Given the description of an element on the screen output the (x, y) to click on. 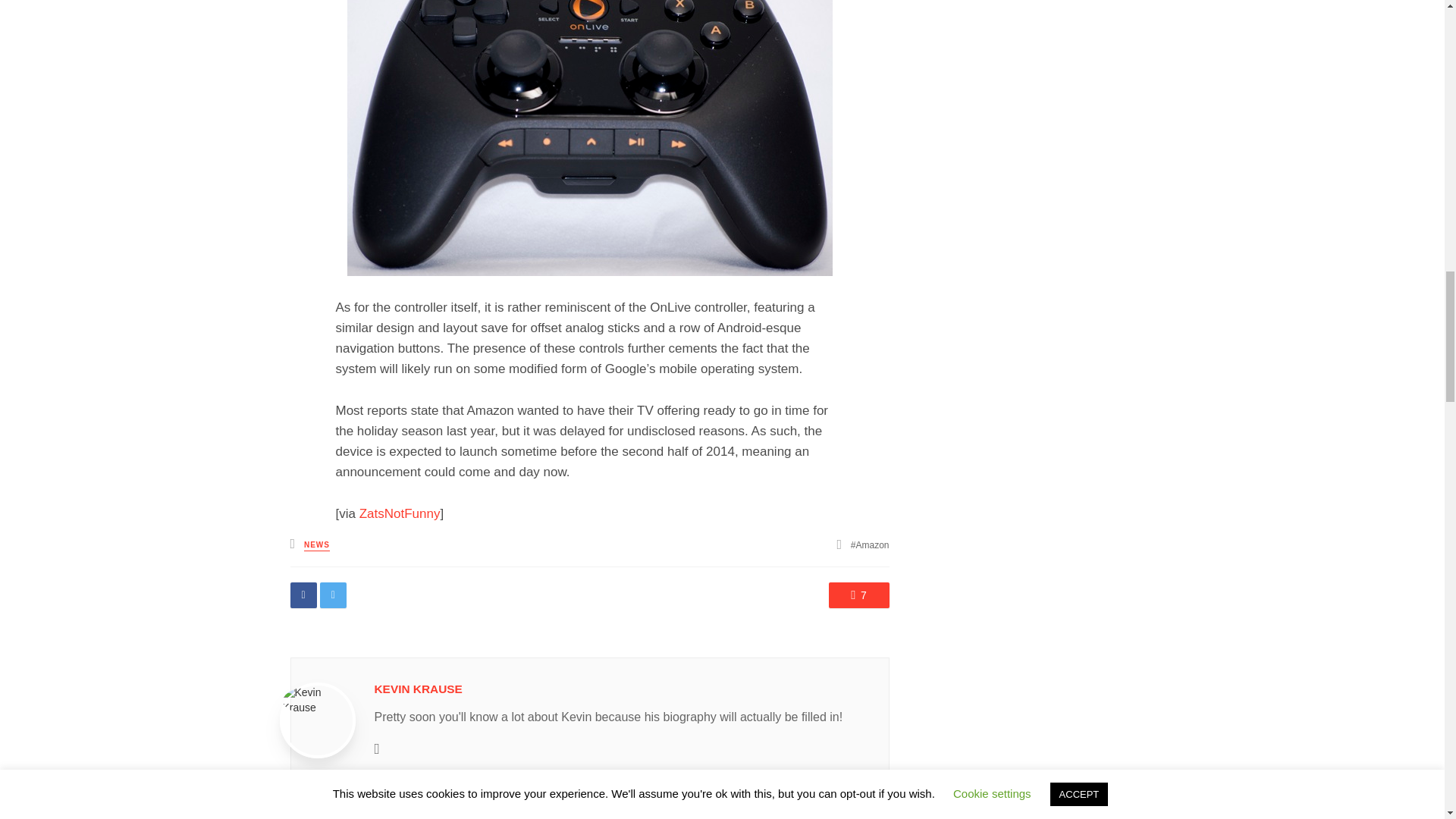
ZatsNotFunny (400, 513)
Posts by Kevin Krause (418, 688)
KEVIN KRAUSE (418, 688)
Amazon (869, 544)
NEWS (317, 545)
7 (858, 595)
